Given the description of an element on the screen output the (x, y) to click on. 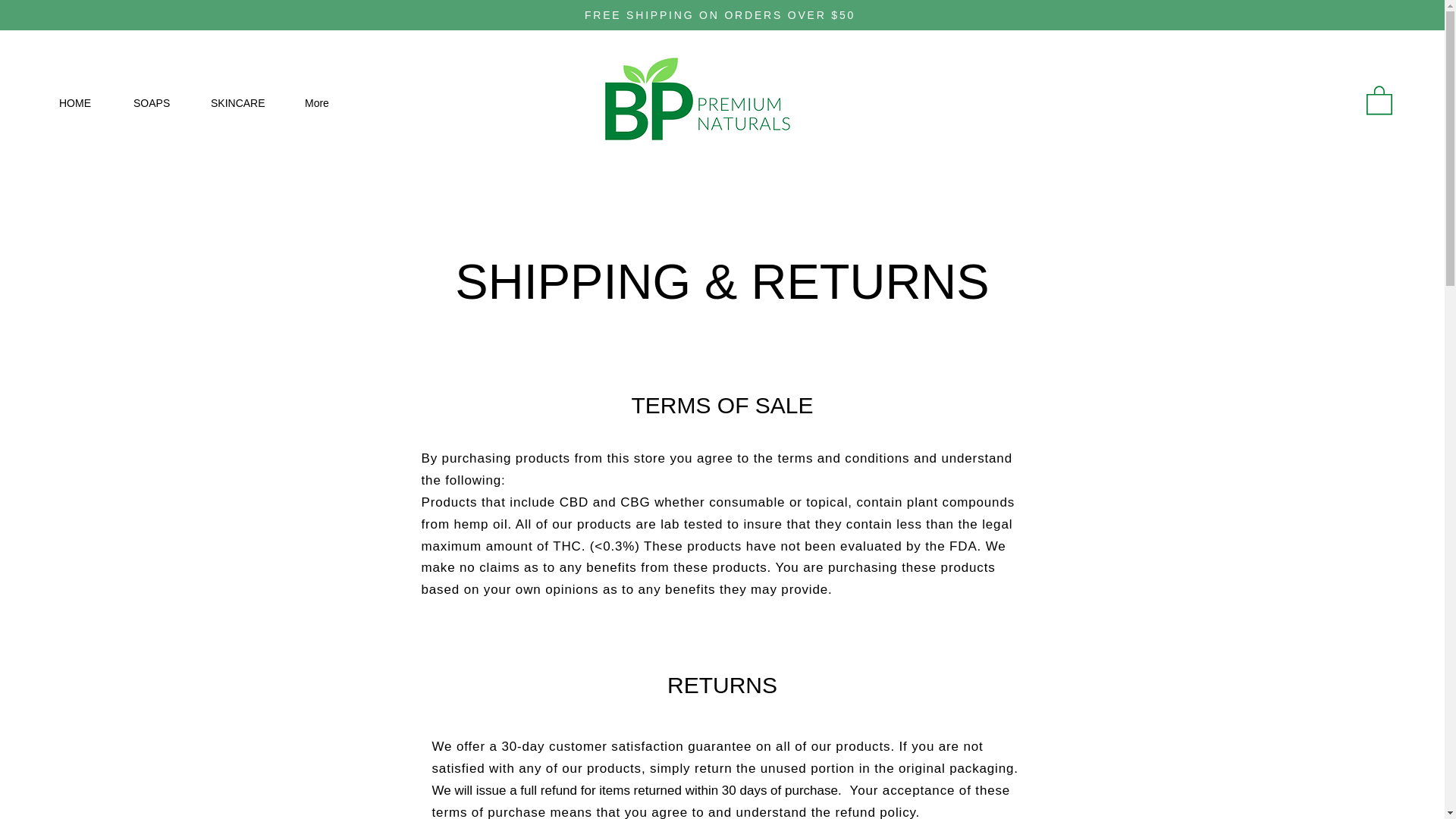
HOME (85, 103)
FRAIS (712, 101)
BP Premium Naturals logo.png (694, 109)
SOAPS (160, 103)
SKINCARE (246, 103)
